Given the description of an element on the screen output the (x, y) to click on. 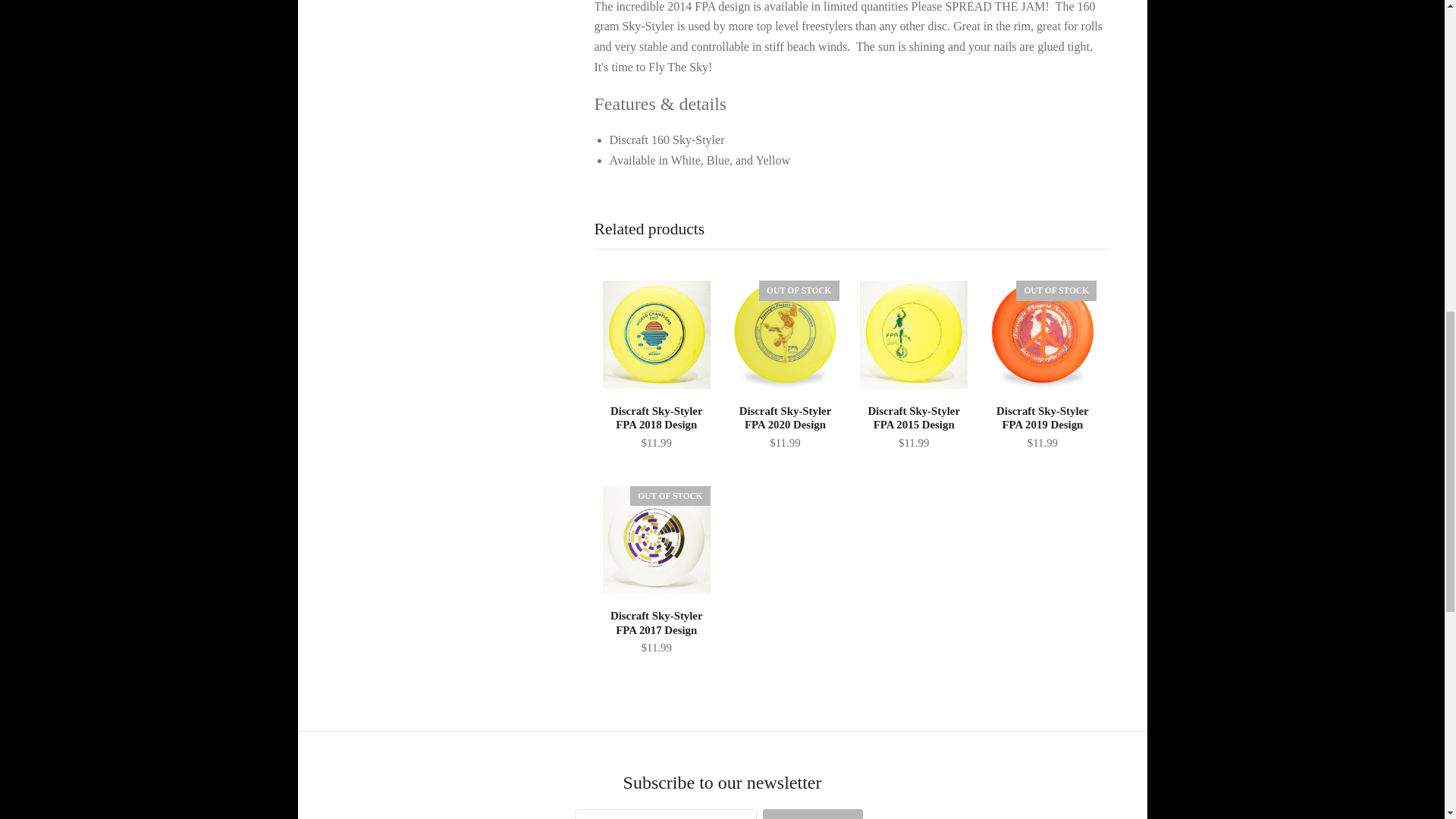
Discraft Sky-Styler FPA 2017 Design (656, 633)
Discraft Sky-Styler FPA 2020 Design (784, 428)
Discraft Sky-Styler FPA 2019 Design (1042, 333)
Discraft Sky-Styler FPA 2018 Design (656, 333)
Subscribe (812, 814)
Discraft Sky-Styler FPA 2017 Design (656, 539)
Discraft Sky-Styler FPA 2015 Design (913, 428)
Discraft Sky-Styler FPA 2019 Design (1042, 428)
Discraft Sky-Styler FPA 2015 Design (913, 333)
Discraft Sky-Styler FPA 2020 Design (784, 333)
